Given the description of an element on the screen output the (x, y) to click on. 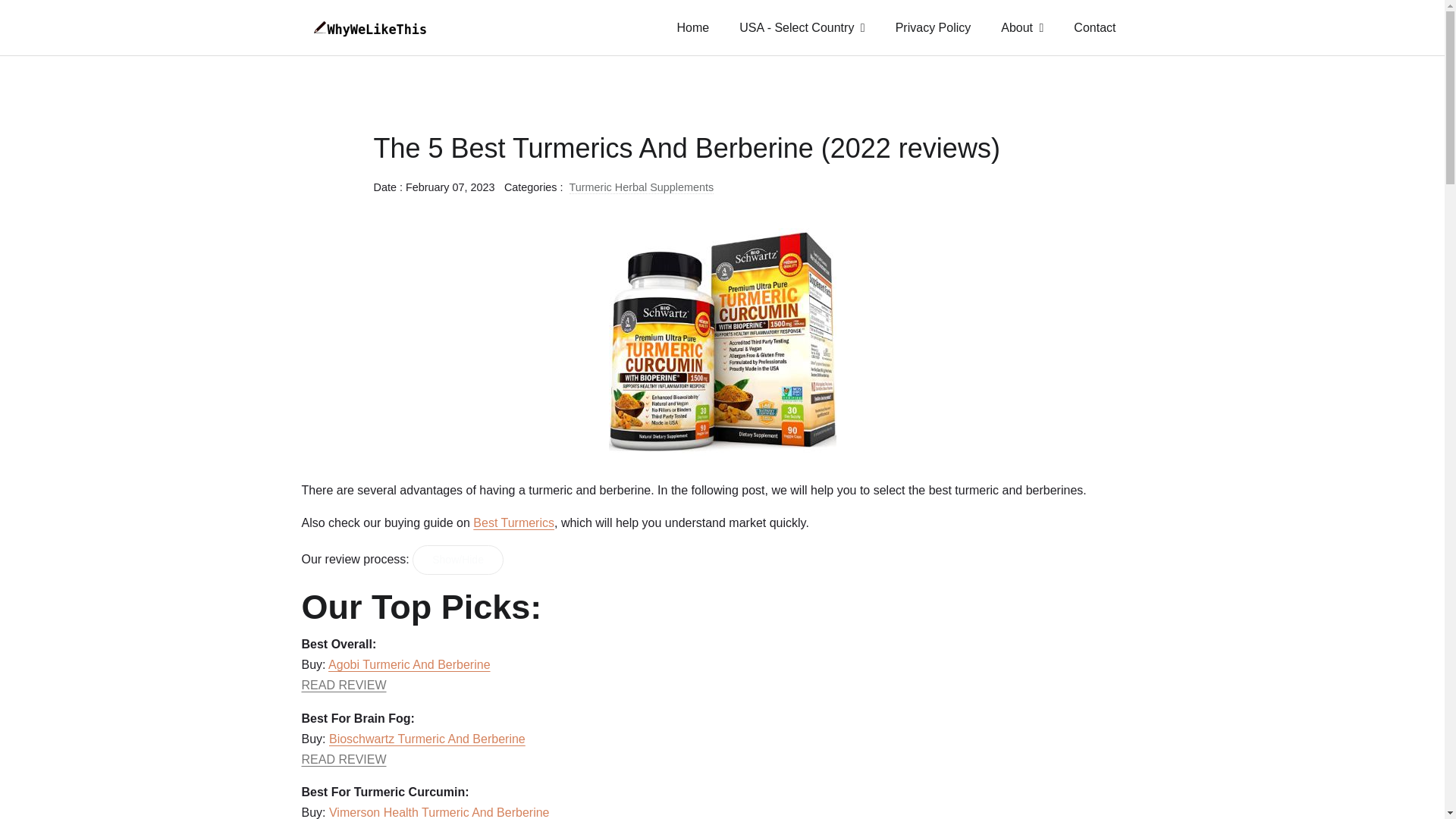
Home (693, 27)
Best Turmerics (513, 522)
Turmeric Herbal Supplements (641, 187)
Contact (1094, 27)
Agobi Turmeric And Berberine (409, 664)
About (1021, 27)
Bioschwartz Turmeric And Berberine (427, 738)
Privacy Policy (933, 27)
USA - Select Country (801, 27)
Vimerson Health Turmeric And Berberine (439, 812)
READ REVIEW (344, 684)
READ REVIEW (344, 758)
